Given the description of an element on the screen output the (x, y) to click on. 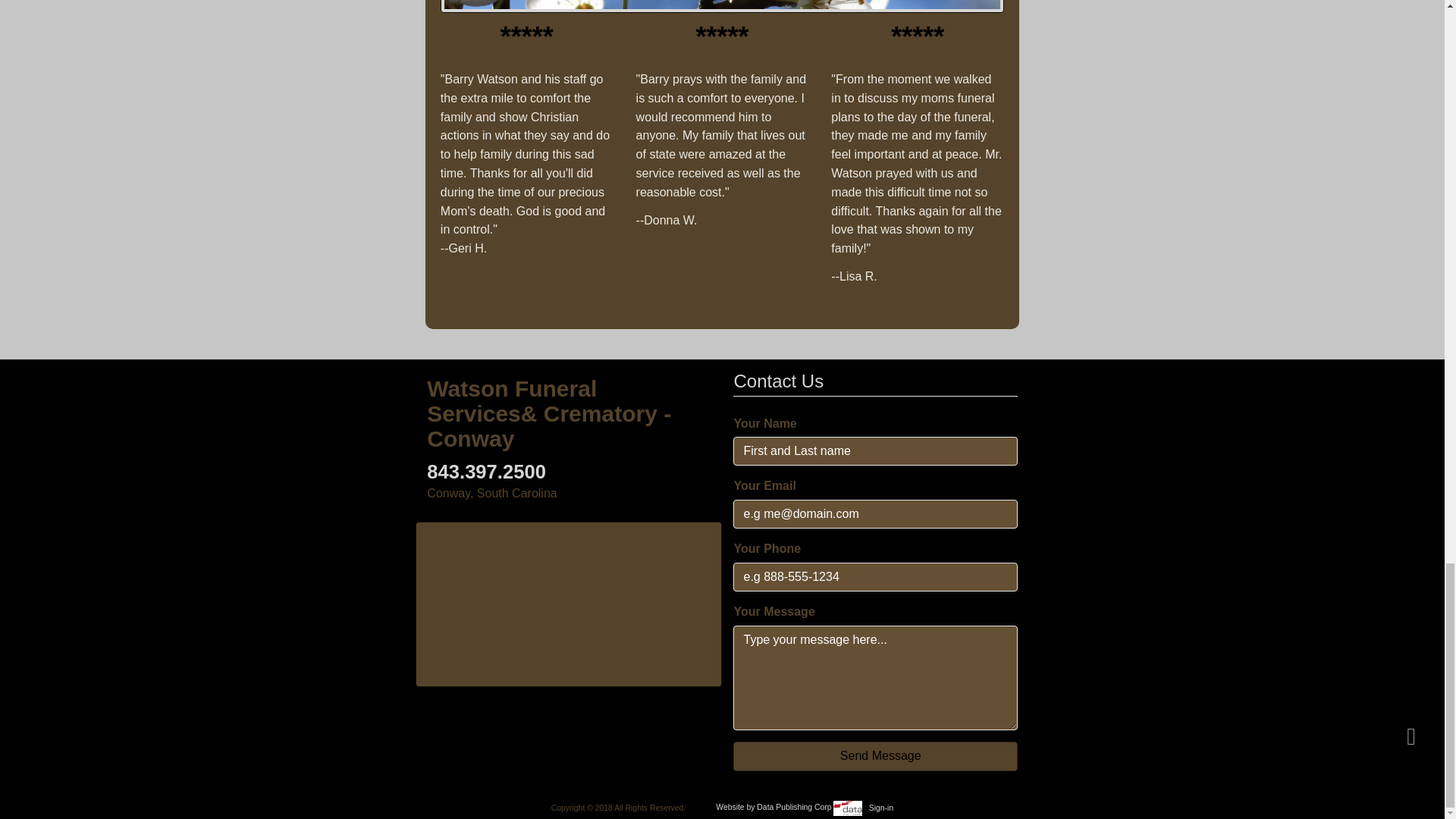
Website by Data Publishing Corp (788, 807)
  Send Message (874, 756)
843.397.2500 (486, 471)
Sign-in (881, 807)
